Given the description of an element on the screen output the (x, y) to click on. 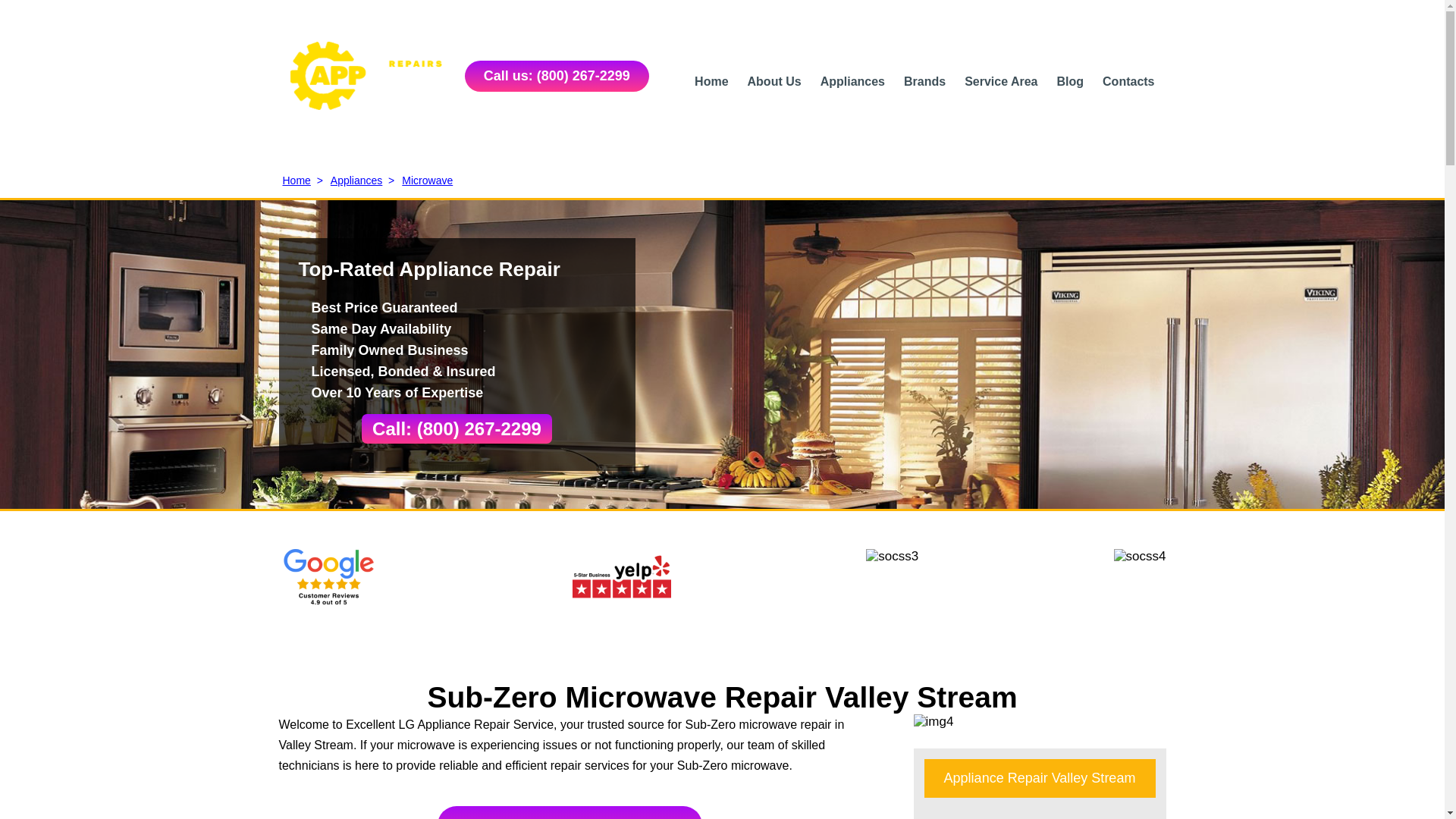
Brands (924, 80)
Appliances (853, 80)
About Us (775, 80)
Home (711, 80)
